Given the description of an element on the screen output the (x, y) to click on. 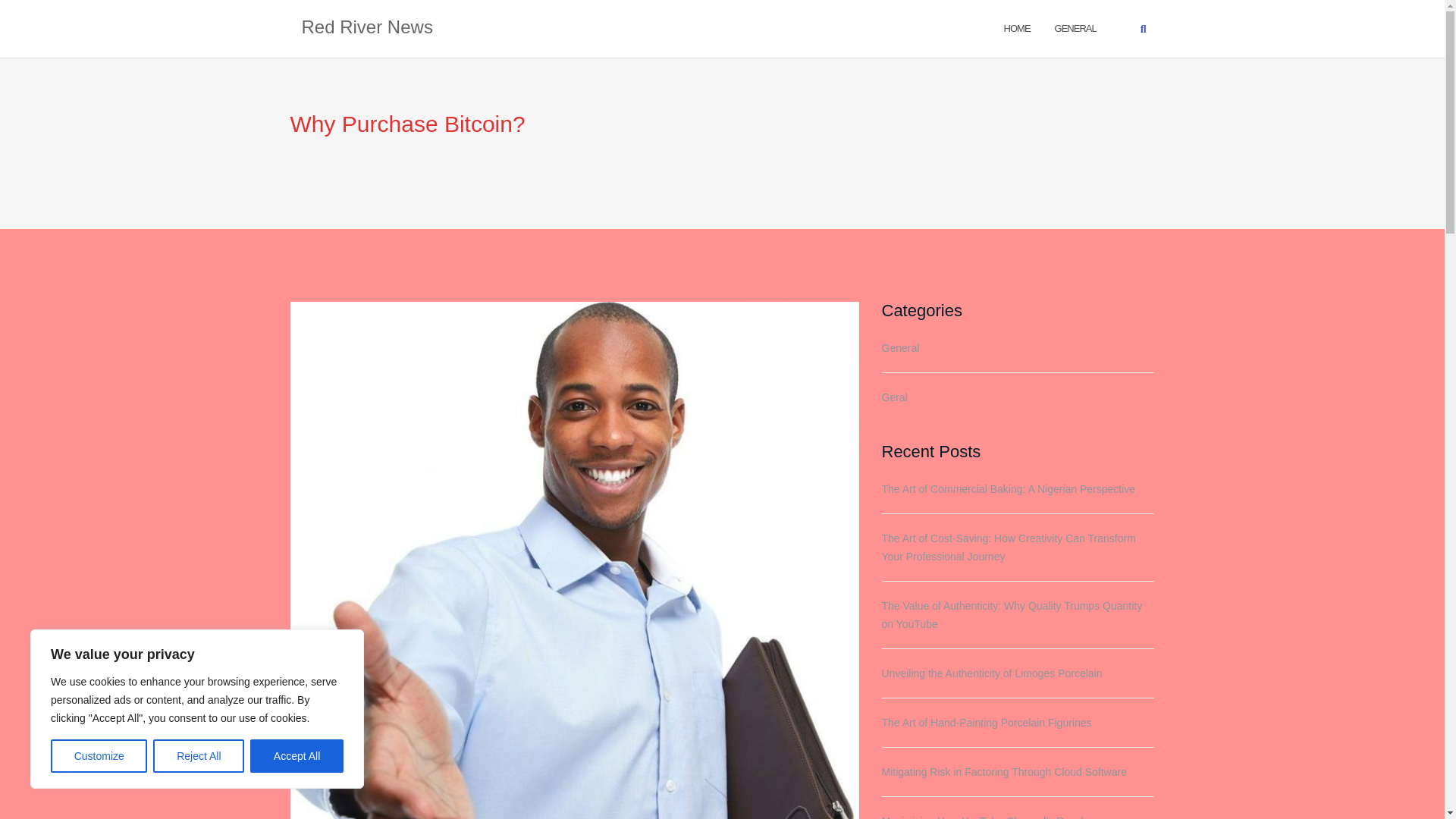
General (1075, 28)
Reject All (198, 756)
Red River News (366, 28)
Accept All (296, 756)
Customize (98, 756)
GENERAL (1075, 28)
